Given the description of an element on the screen output the (x, y) to click on. 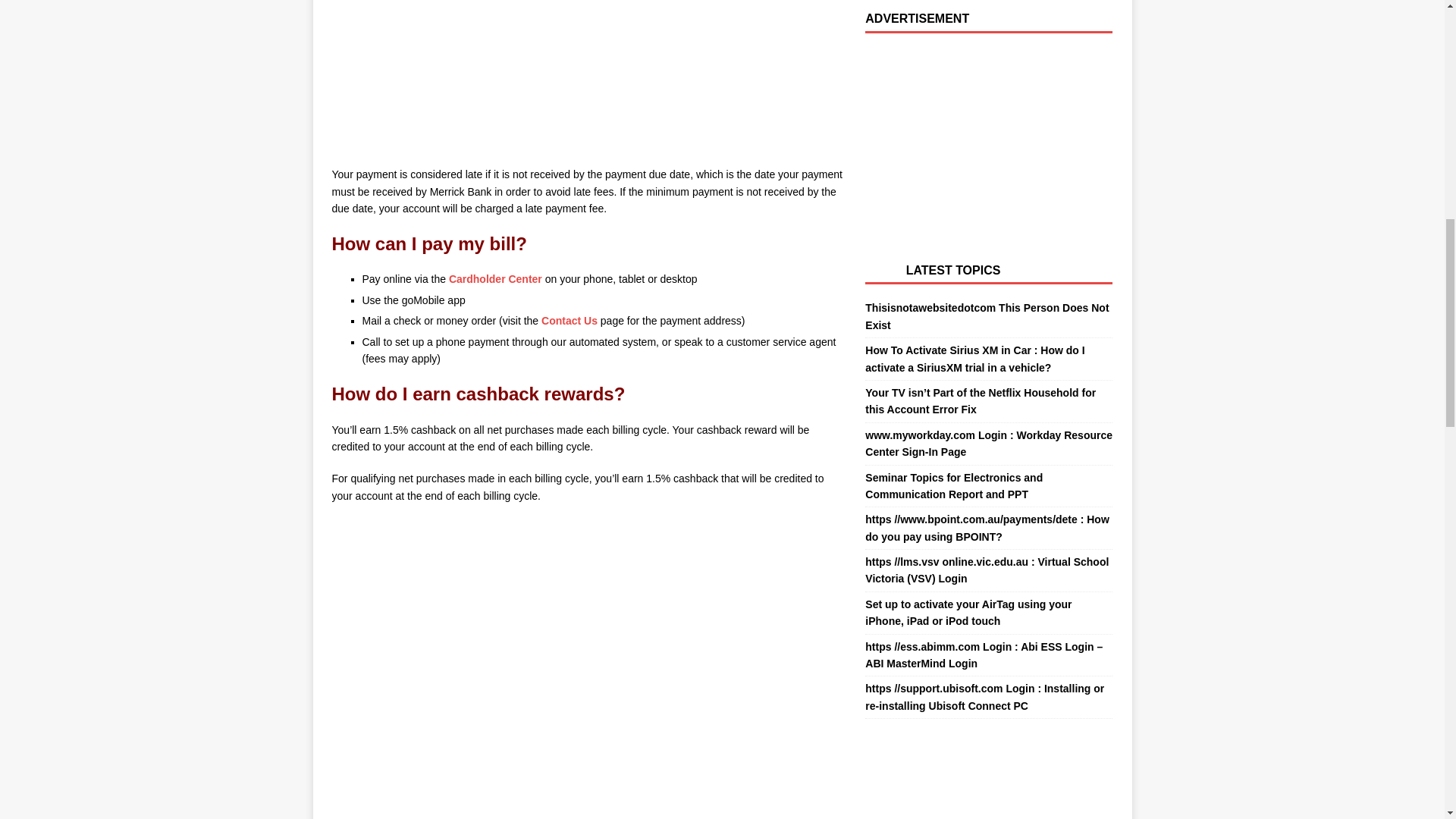
Cardholder Center (494, 278)
Contact Us (568, 320)
